Given the description of an element on the screen output the (x, y) to click on. 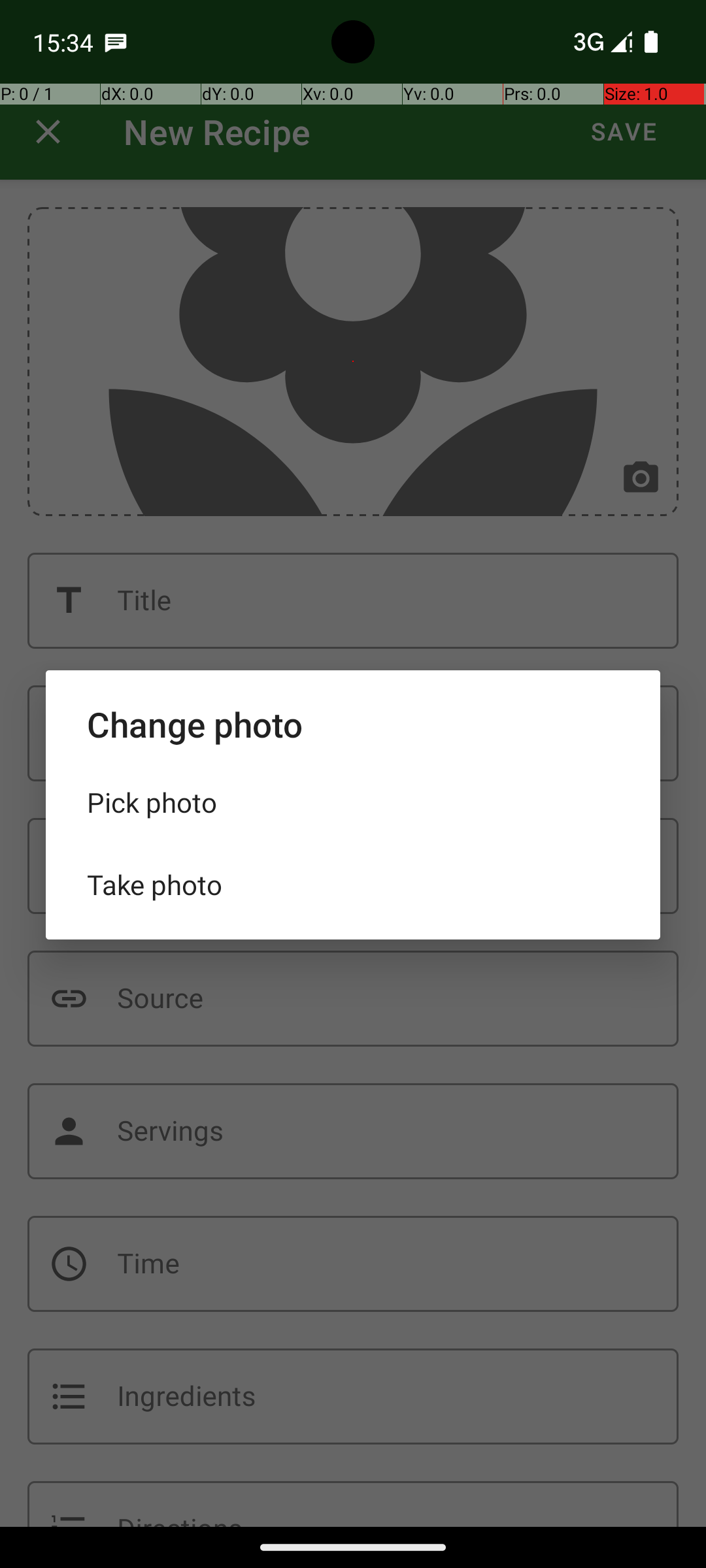
Pick photo Element type: android.widget.TextView (352, 802)
Take photo Element type: android.widget.TextView (352, 884)
